Given the description of an element on the screen output the (x, y) to click on. 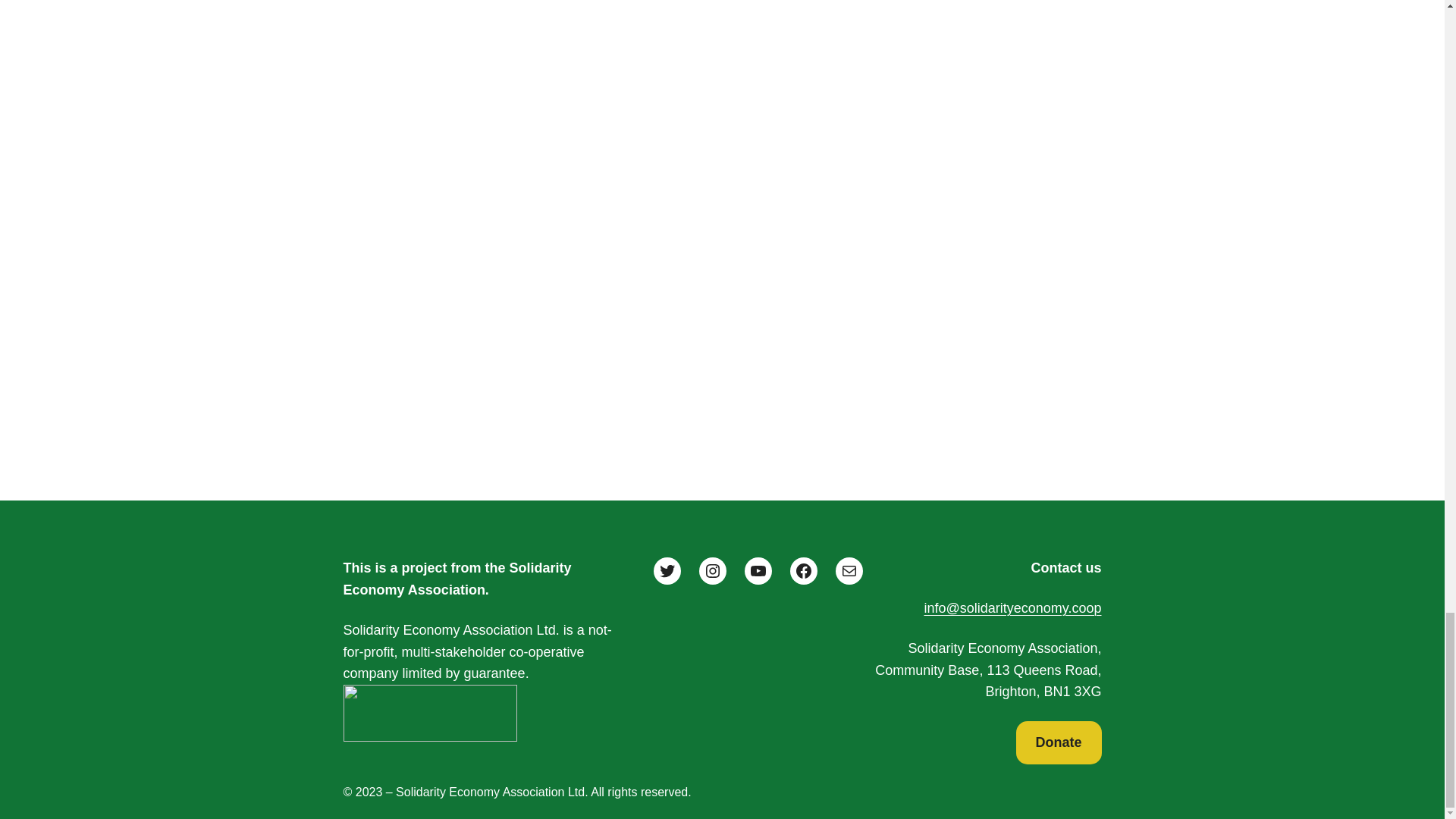
YouTube (757, 570)
Spotify Embed: The Black Panther Party (722, 334)
Mail (849, 570)
Facebook (803, 570)
Donate (1059, 742)
Instagram (712, 570)
Twitter (667, 570)
The Black Power Mixtape (722, 107)
